Given the description of an element on the screen output the (x, y) to click on. 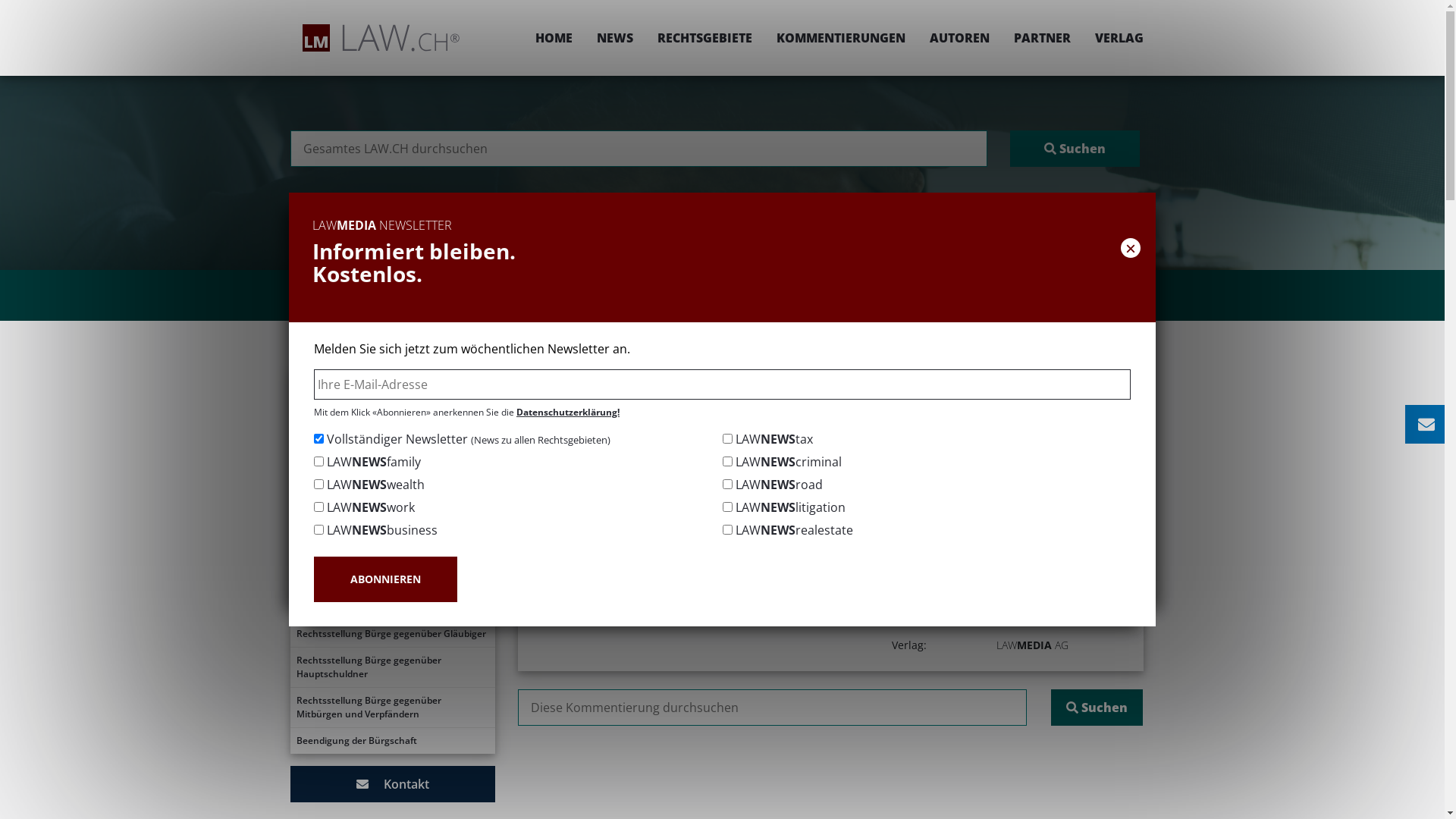
Rechtsgebiete Element type: text (697, 375)
PARTNER Element type: text (1041, 37)
Home Element type: text (628, 375)
Suchen nach: Element type: hover (637, 148)
AUTOREN Element type: text (959, 37)
Inhaltsverzeichnis Element type: text (391, 421)
Anwendungsbereich Element type: text (391, 554)
RECHTSGEBIETE Element type: text (703, 37)
    Kontakt Element type: text (391, 783)
HOME Element type: text (553, 37)
 TEILEN Element type: text (989, 426)
Suchen nach: Element type: hover (771, 707)
NEWS Element type: text (613, 37)
KOMMENTIERUNGEN Element type: text (840, 37)
 DRUCKEN / PDF Element type: text (1095, 426)
ABONNIEREN Element type: text (385, 579)
VERLAG Element type: text (1112, 37)
Rechtliche Grundlagen Element type: text (391, 474)
